Given the description of an element on the screen output the (x, y) to click on. 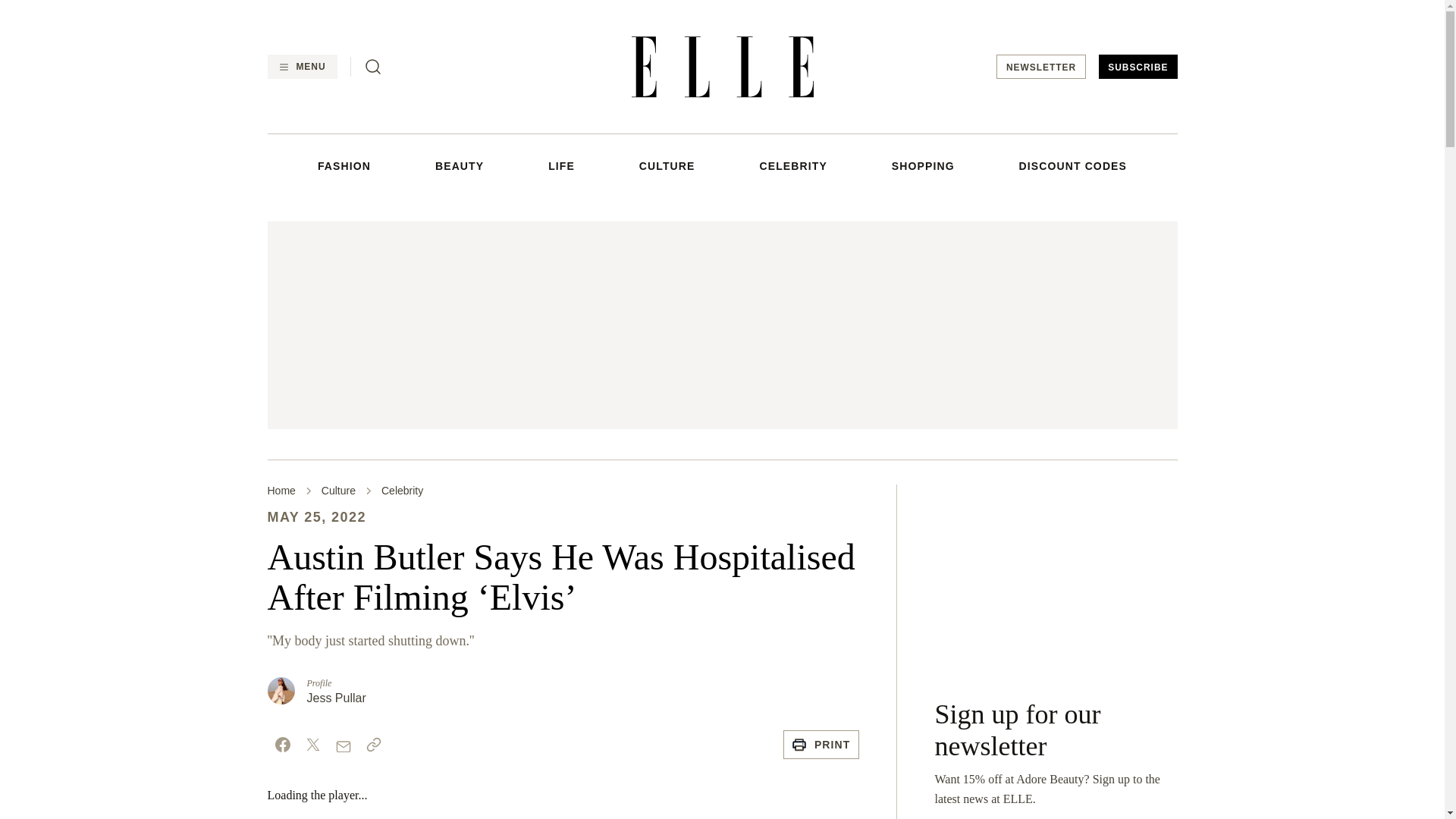
DISCOUNT CODES (1072, 165)
SUBSCRIBE (1137, 66)
BEAUTY (459, 165)
NEWSLETTER (1040, 66)
MENU (301, 66)
FASHION (344, 165)
LIFE (561, 165)
SHOPPING (923, 165)
CELEBRITY (792, 165)
CULTURE (667, 165)
